Given the description of an element on the screen output the (x, y) to click on. 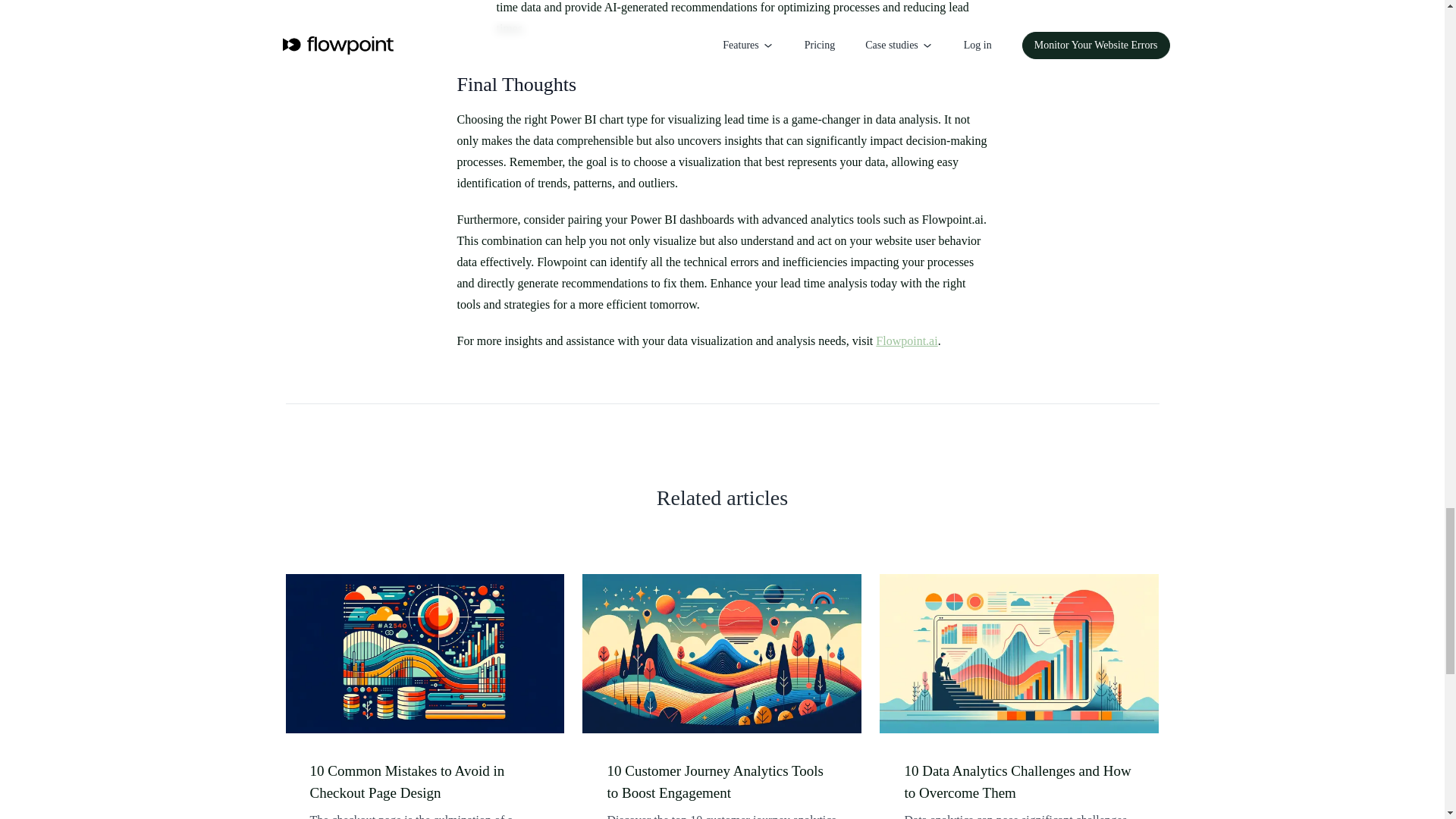
10 Common Mistakes to Avoid in Checkout Page Design (424, 781)
Flowpoint.ai (906, 340)
10 Data Analytics Challenges and How to Overcome Them (1019, 781)
10 Customer Journey Analytics Tools to Boost Engagement (722, 781)
